Given the description of an element on the screen output the (x, y) to click on. 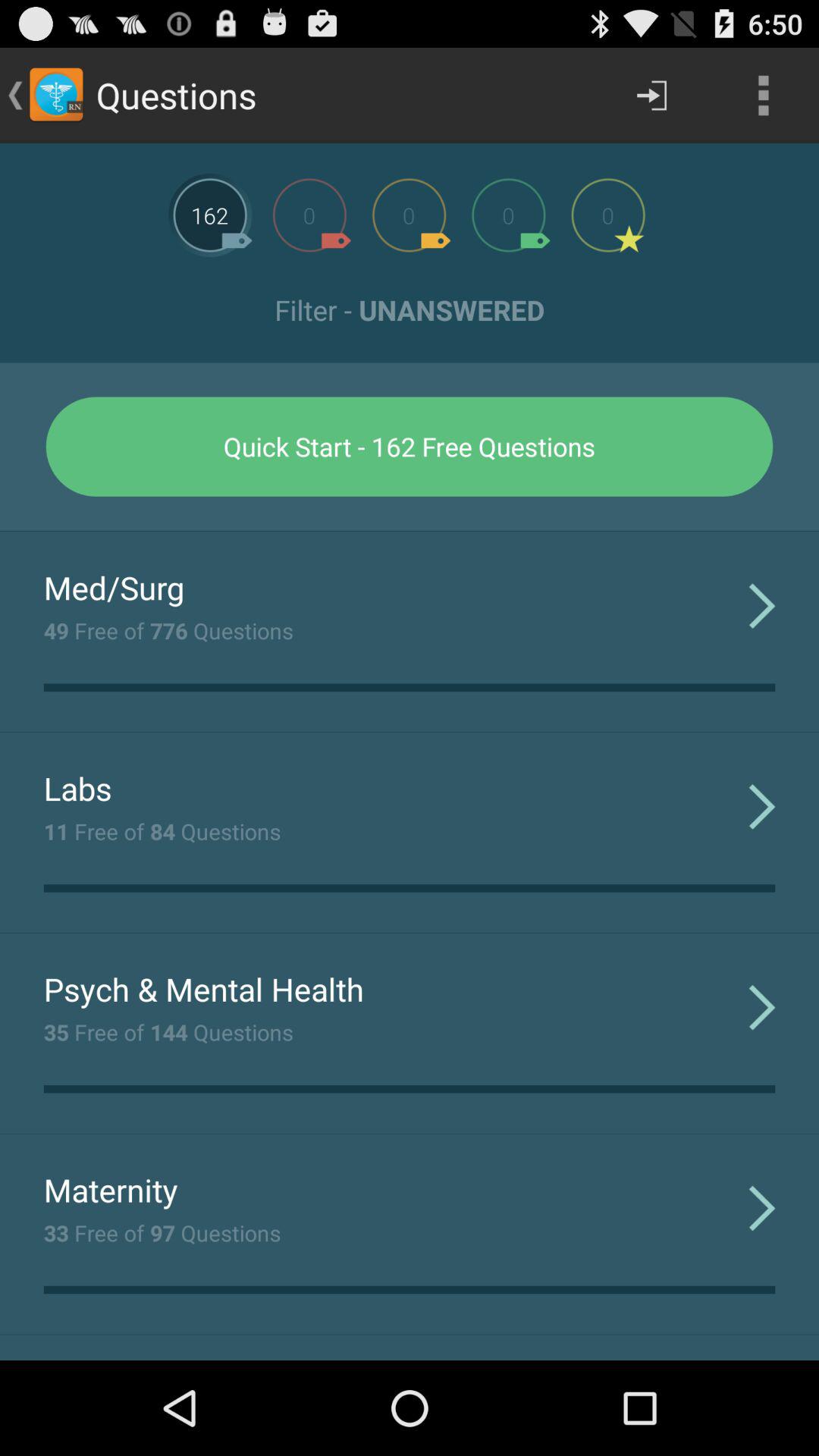
select the app below the 49 free of item (77, 787)
